Given the description of an element on the screen output the (x, y) to click on. 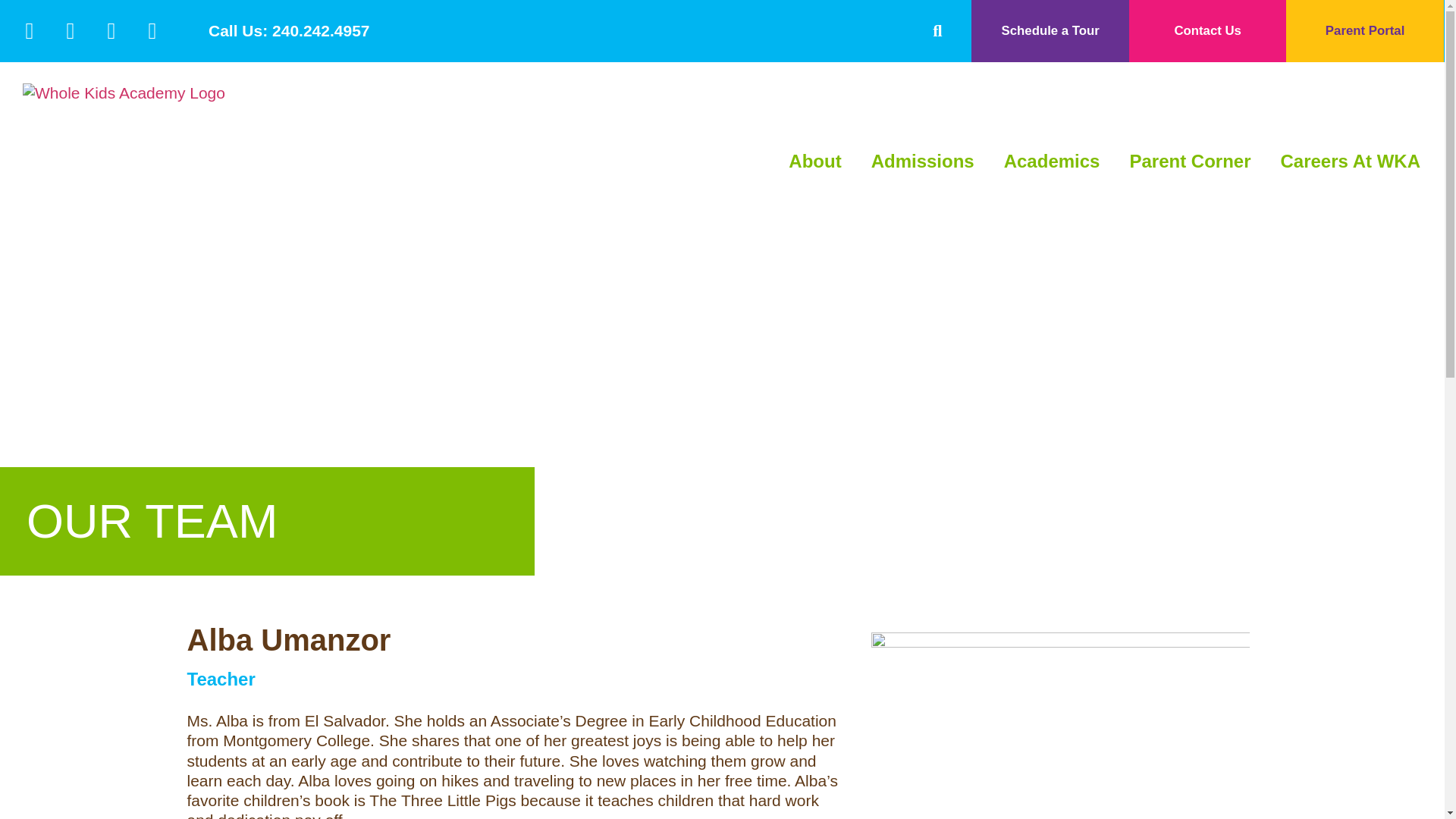
240.242.4957 (320, 30)
Parent Corner (1189, 161)
Schedule a Tour (1050, 31)
Careers At WKA (1350, 161)
Admissions (922, 161)
Academics (1052, 161)
Parent Portal (1364, 31)
Contact Us (1207, 31)
About (815, 161)
